Given the description of an element on the screen output the (x, y) to click on. 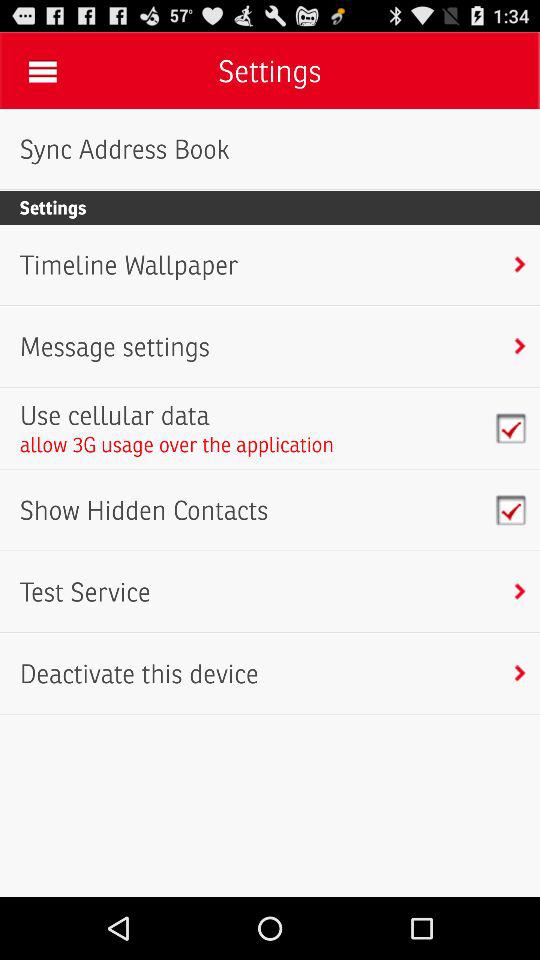
jump until message settings app (114, 346)
